Given the description of an element on the screen output the (x, y) to click on. 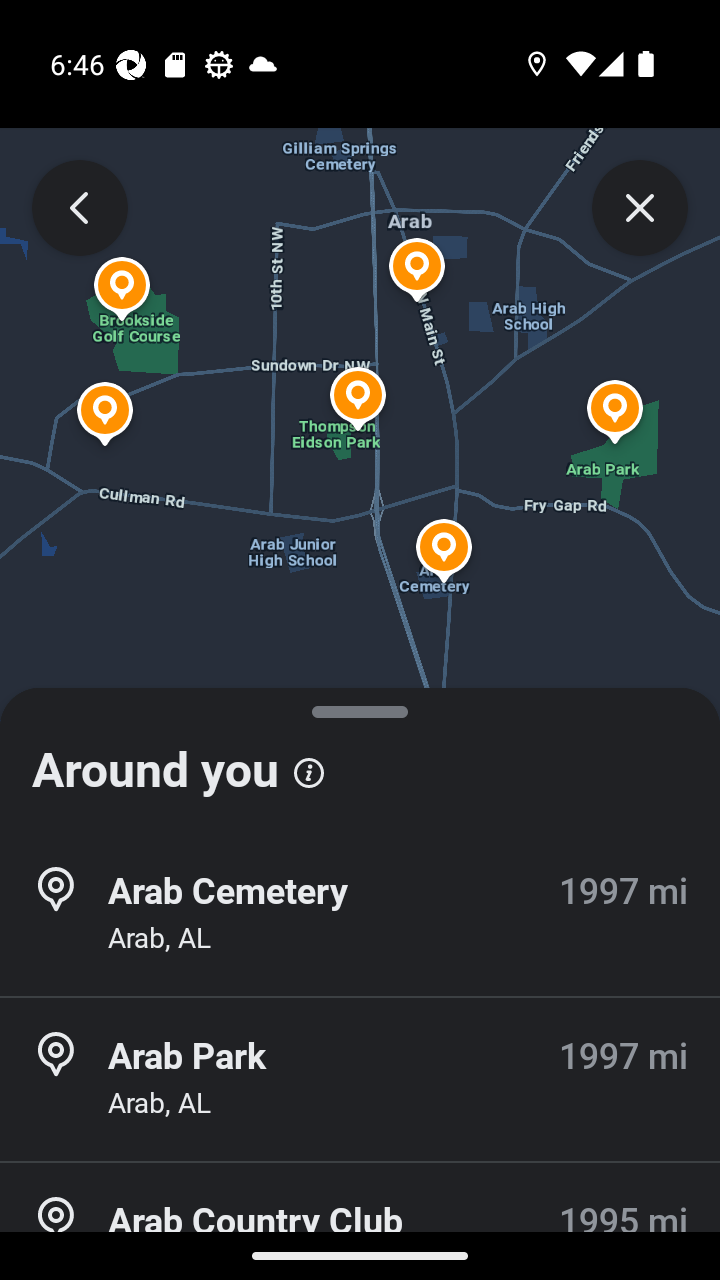
Around you (360, 760)
Arab Cemetery 1997 mi Arab, AL (360, 914)
Arab Park 1997 mi Arab, AL (360, 1079)
Arab Country Club 1995 mi Arab, AL (360, 1221)
